Given the description of an element on the screen output the (x, y) to click on. 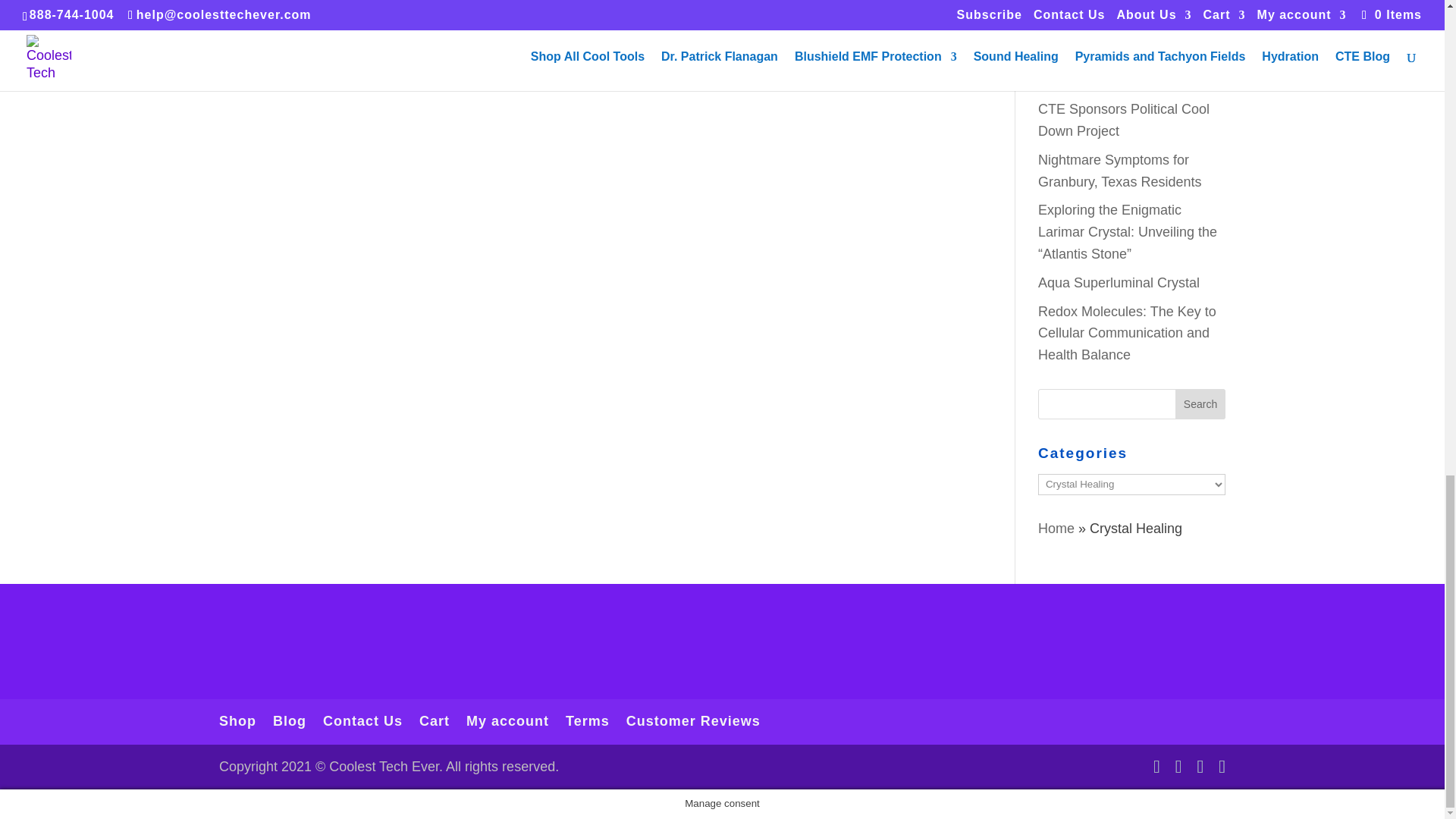
Search (1199, 404)
Home (1056, 528)
CTE Sponsors Political Cool Down Project (1123, 119)
Aqua Superluminal Crystal (1118, 282)
Nightmare Symptoms for Granbury, Texas Residents (1119, 170)
